Given the description of an element on the screen output the (x, y) to click on. 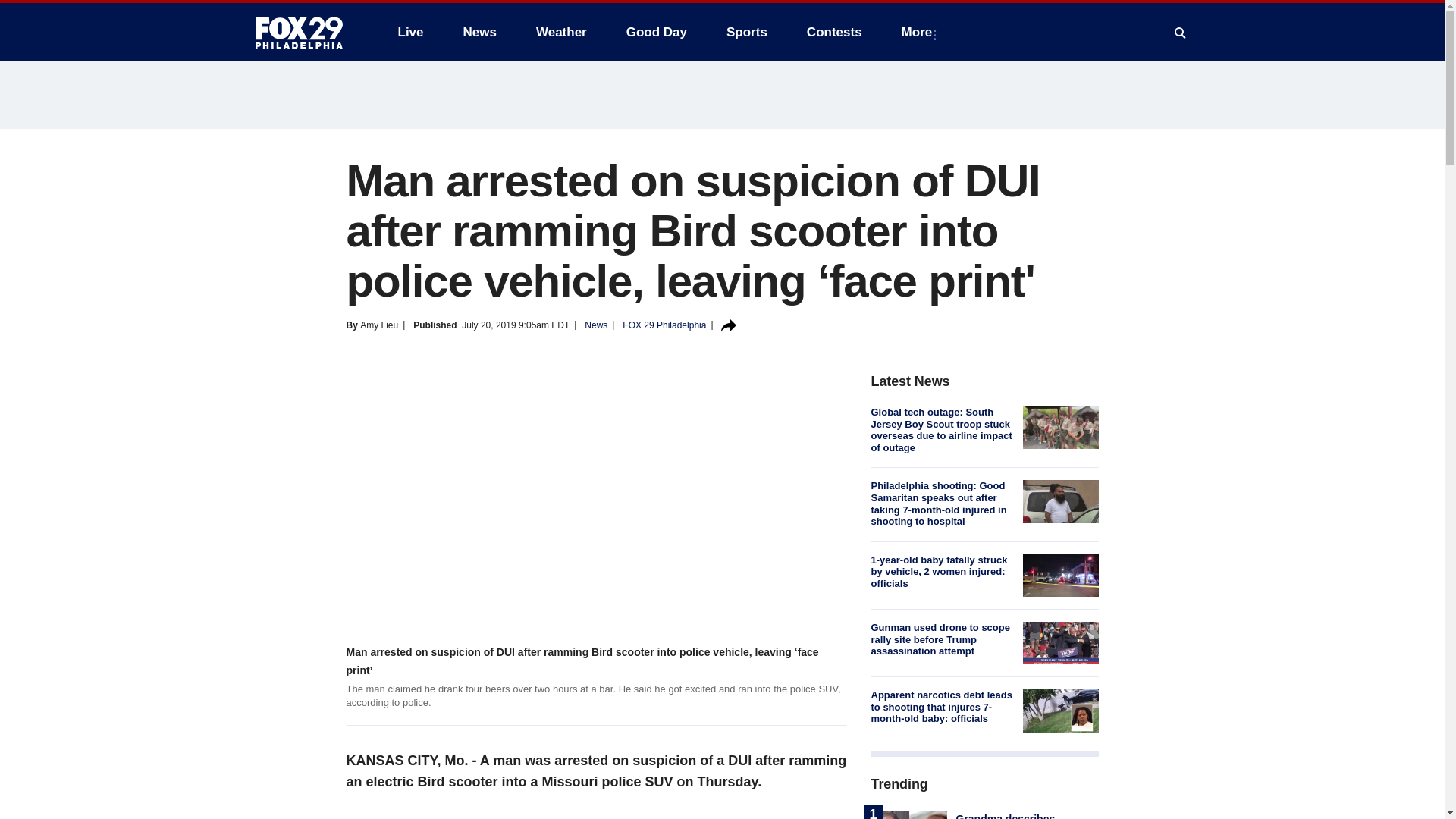
News (479, 32)
Live (410, 32)
More (919, 32)
Sports (746, 32)
Good Day (656, 32)
Weather (561, 32)
Contests (834, 32)
